Given the description of an element on the screen output the (x, y) to click on. 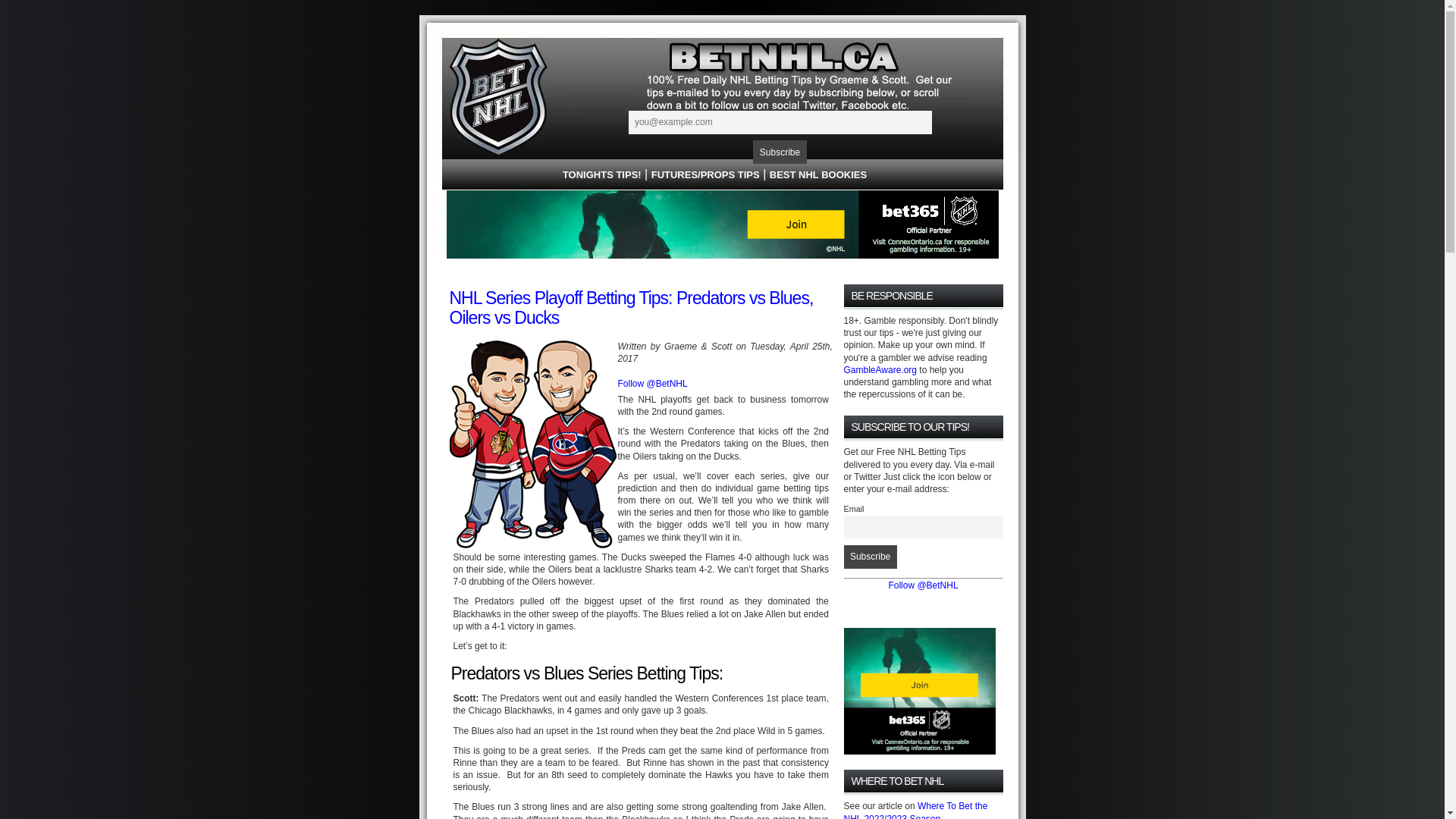
BEST NHL BOOKIES Element type: text (817, 174)
Follow @BetNHL Element type: text (922, 585)
Follow @BetNHL Element type: text (652, 383)
Subscribe Element type: text (779, 151)
TONIGHTS TIPS! Element type: text (601, 174)
FUTURES/PROPS TIPS Element type: text (705, 174)
Subscribe Element type: text (869, 556)
GambleAware.org Element type: text (879, 369)
